Given the description of an element on the screen output the (x, y) to click on. 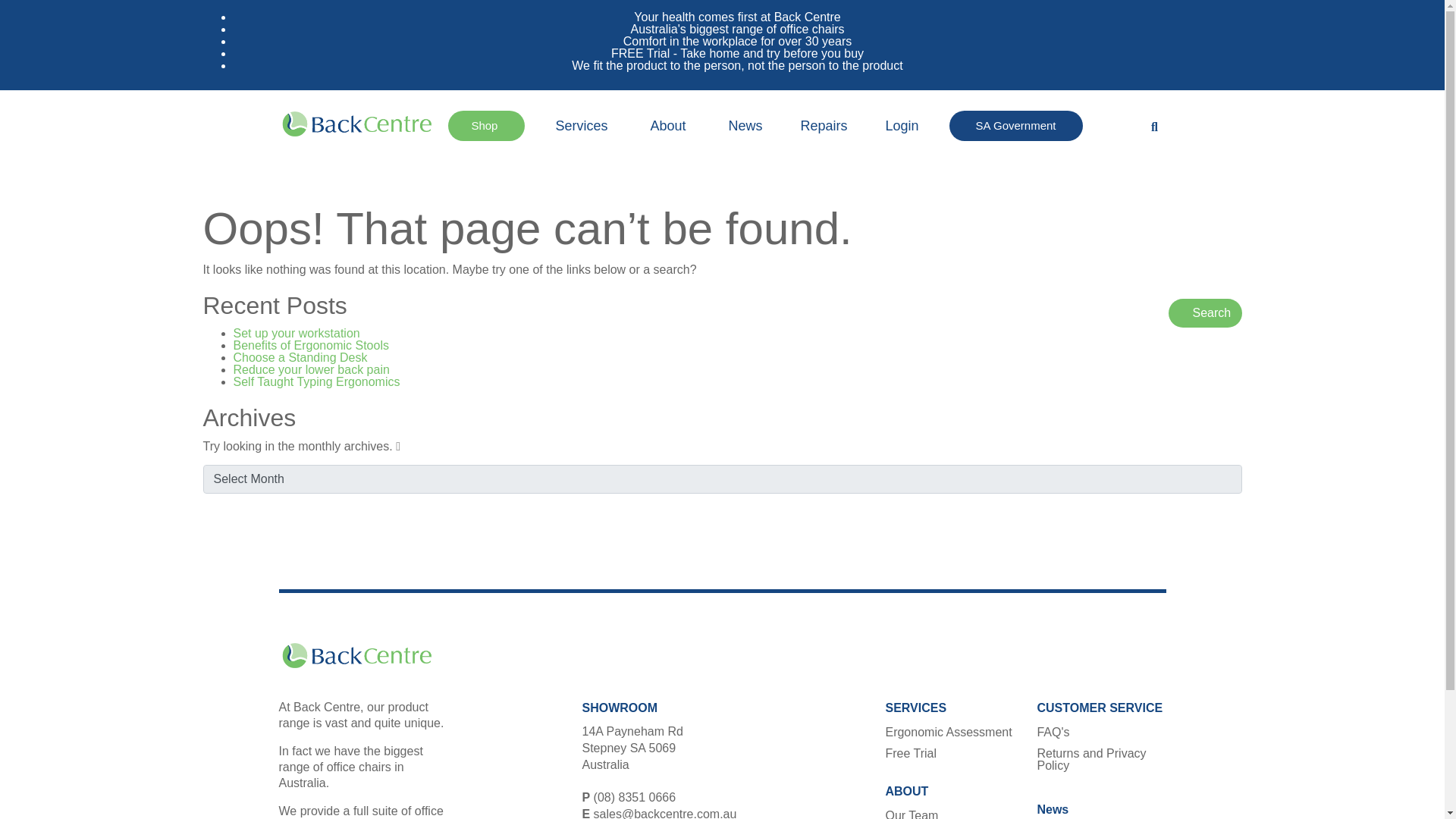
About (669, 125)
Repairs (824, 125)
News (745, 125)
Back Centre (356, 123)
Login (901, 125)
Back Centre (356, 655)
Shop (486, 125)
Services (583, 125)
SA Government (1016, 125)
